Given the description of an element on the screen output the (x, y) to click on. 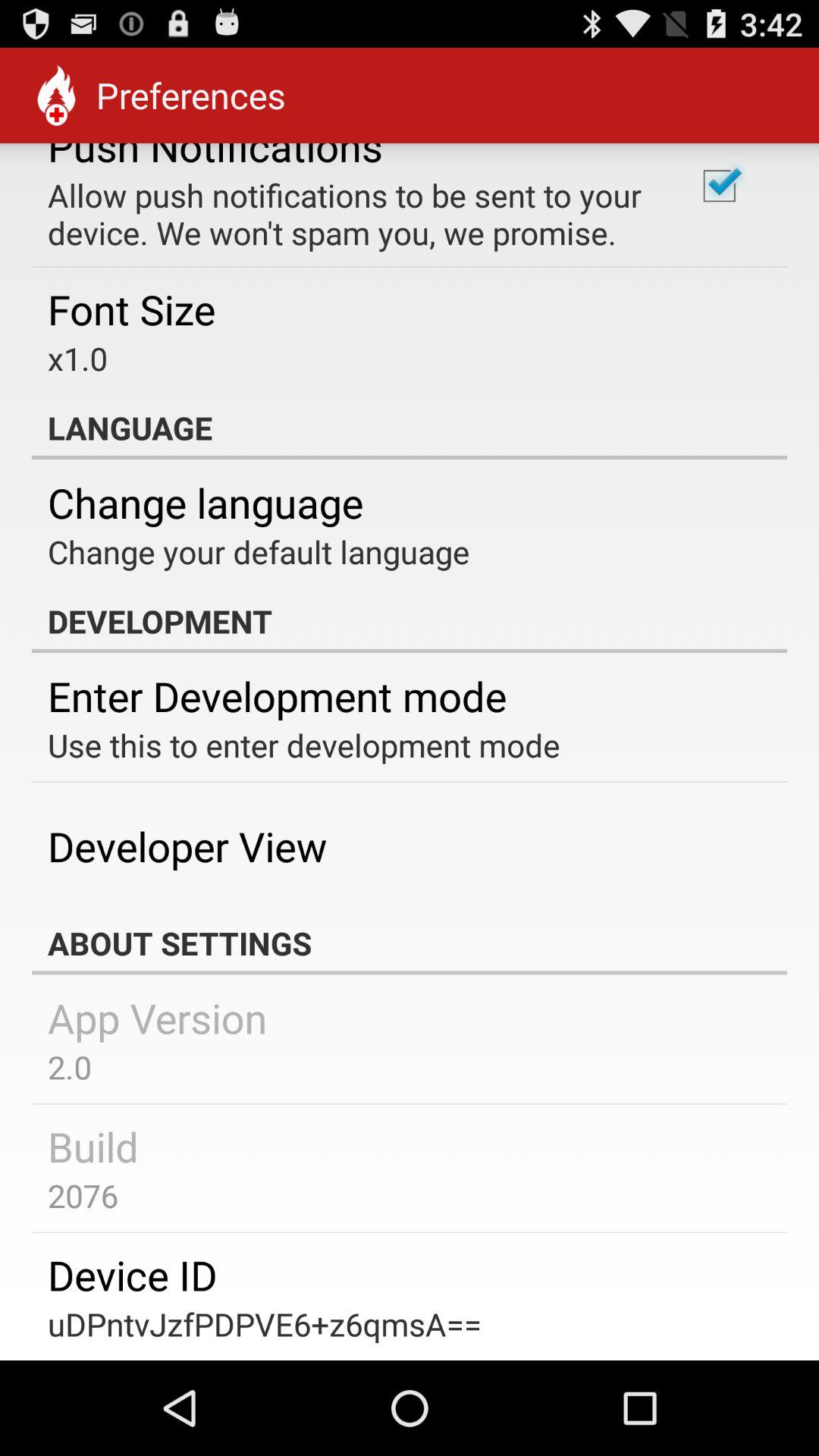
choose the build (92, 1145)
